Given the description of an element on the screen output the (x, y) to click on. 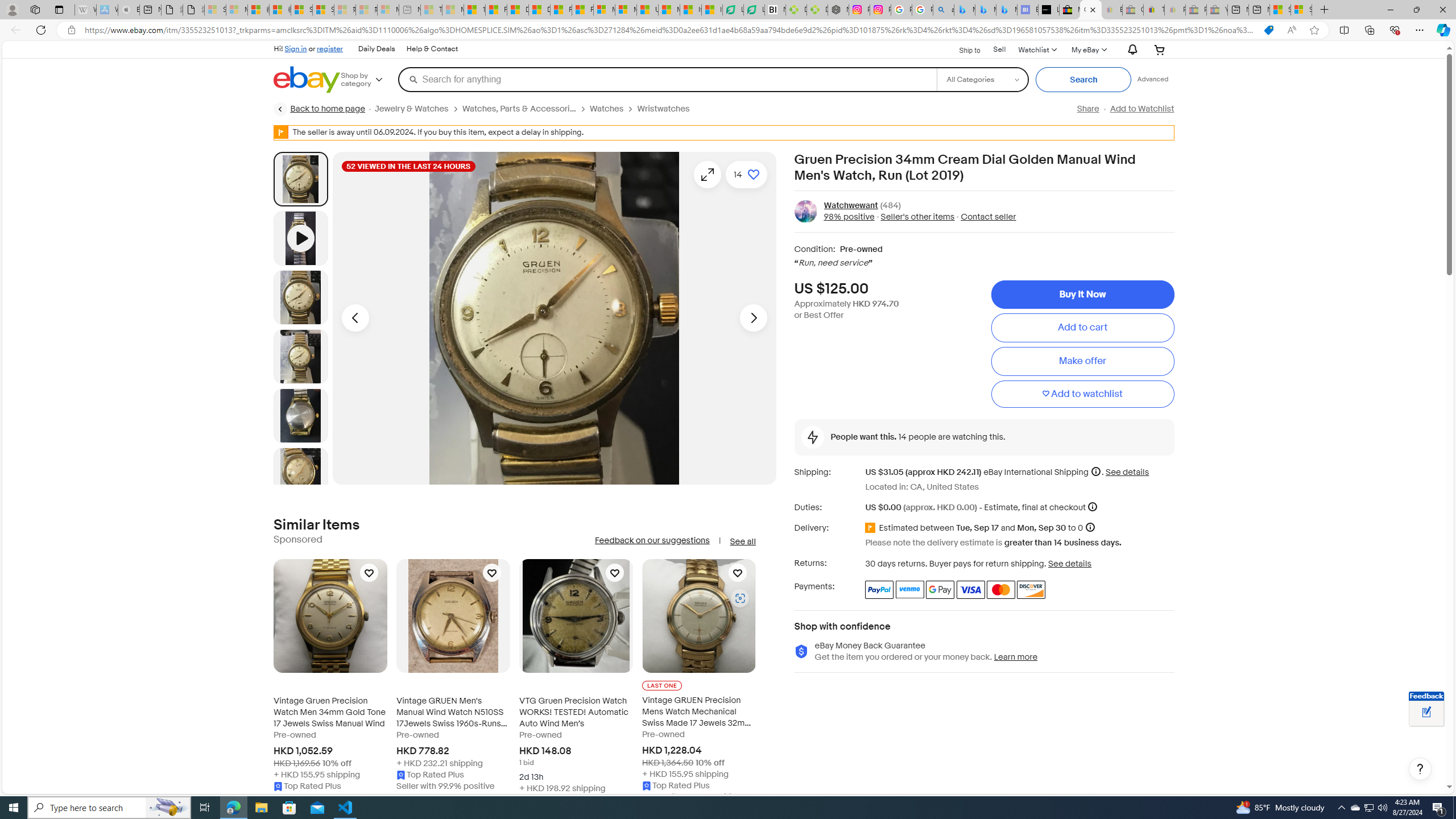
Video 1 of 1 (300, 237)
eBay Home (306, 79)
WatchlistExpand Watch List (1036, 49)
PayPal (878, 588)
Foo BAR | Trusted Community Engagement and Contributions (582, 9)
Sell (999, 49)
Press Room - eBay Inc. - Sleeping (1195, 9)
See all (742, 540)
Select a category for search (981, 78)
Shanghai, China hourly forecast | Microsoft Weather (1280, 9)
Microsoft Bing Travel - Flights from Hong Kong to Bangkok (964, 9)
Make offer (1082, 361)
Back to home page (319, 109)
